Given the description of an element on the screen output the (x, y) to click on. 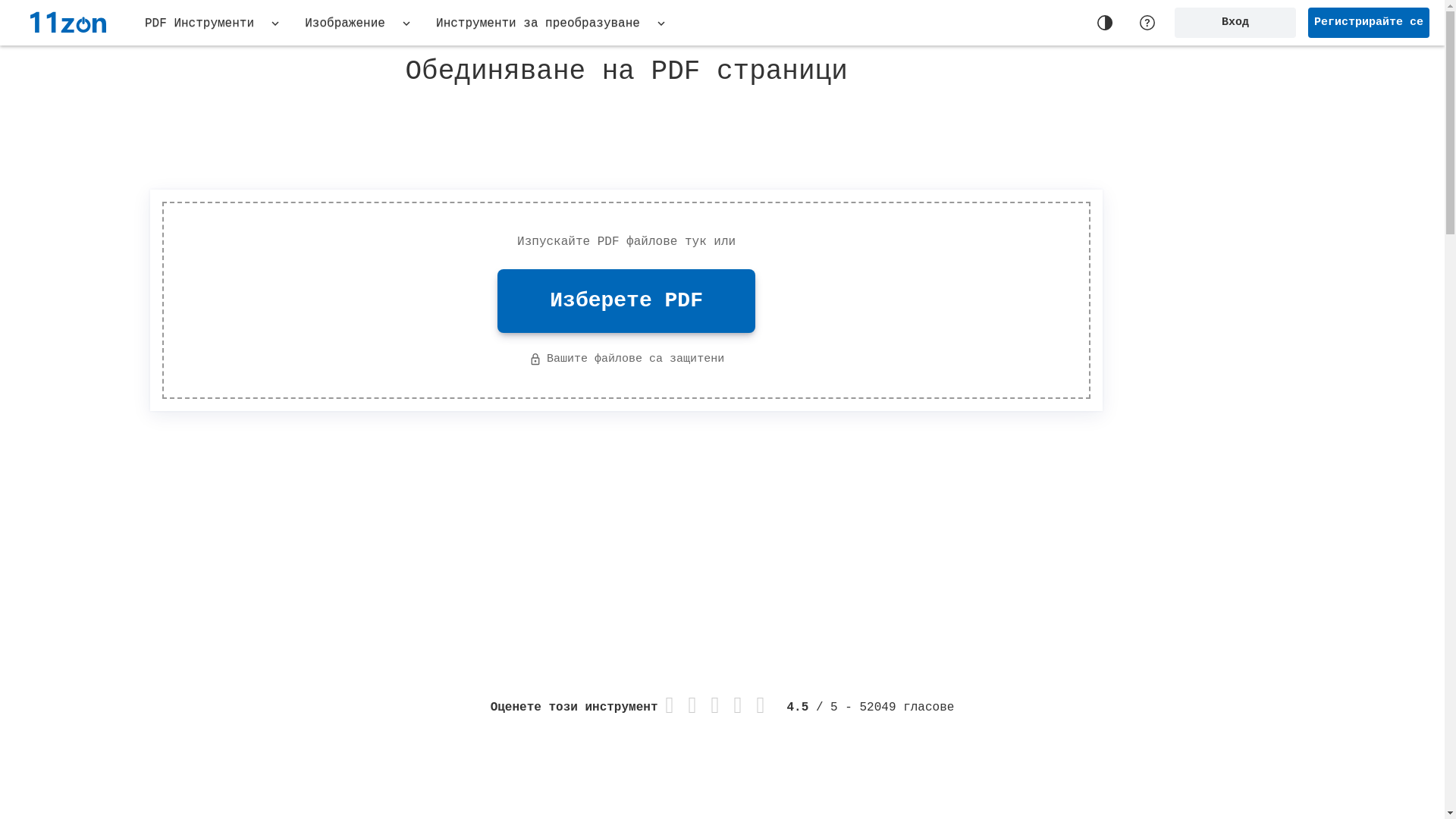
Advertisement Element type: hover (626, 134)
Advertisement Element type: hover (1279, 287)
Advertisement Element type: hover (263, 520)
Advertisement Element type: hover (974, 532)
